Given the description of an element on the screen output the (x, y) to click on. 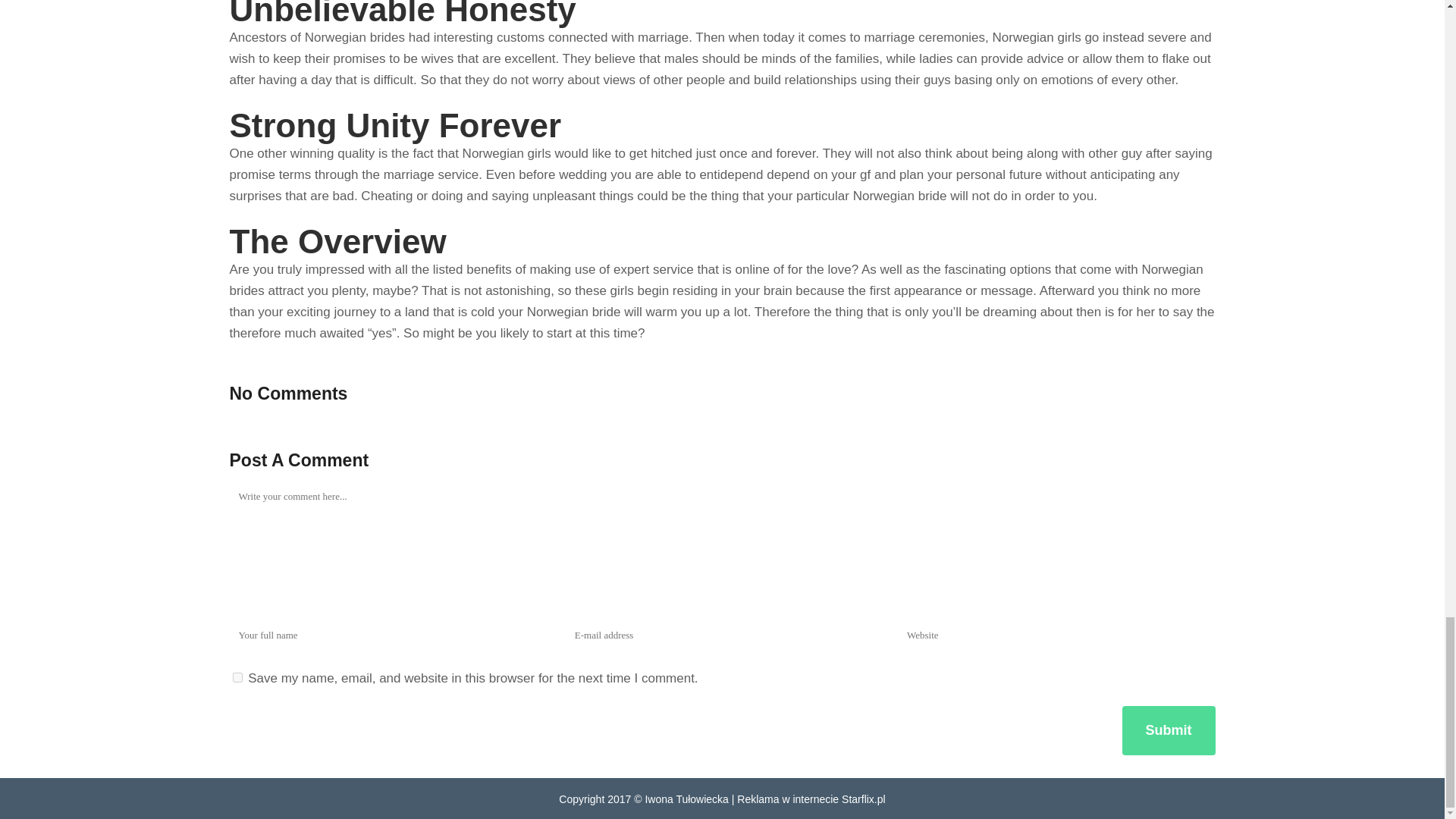
yes (236, 677)
Submit (1168, 730)
Submit (1168, 730)
Starflix.pl (863, 798)
